Given the description of an element on the screen output the (x, y) to click on. 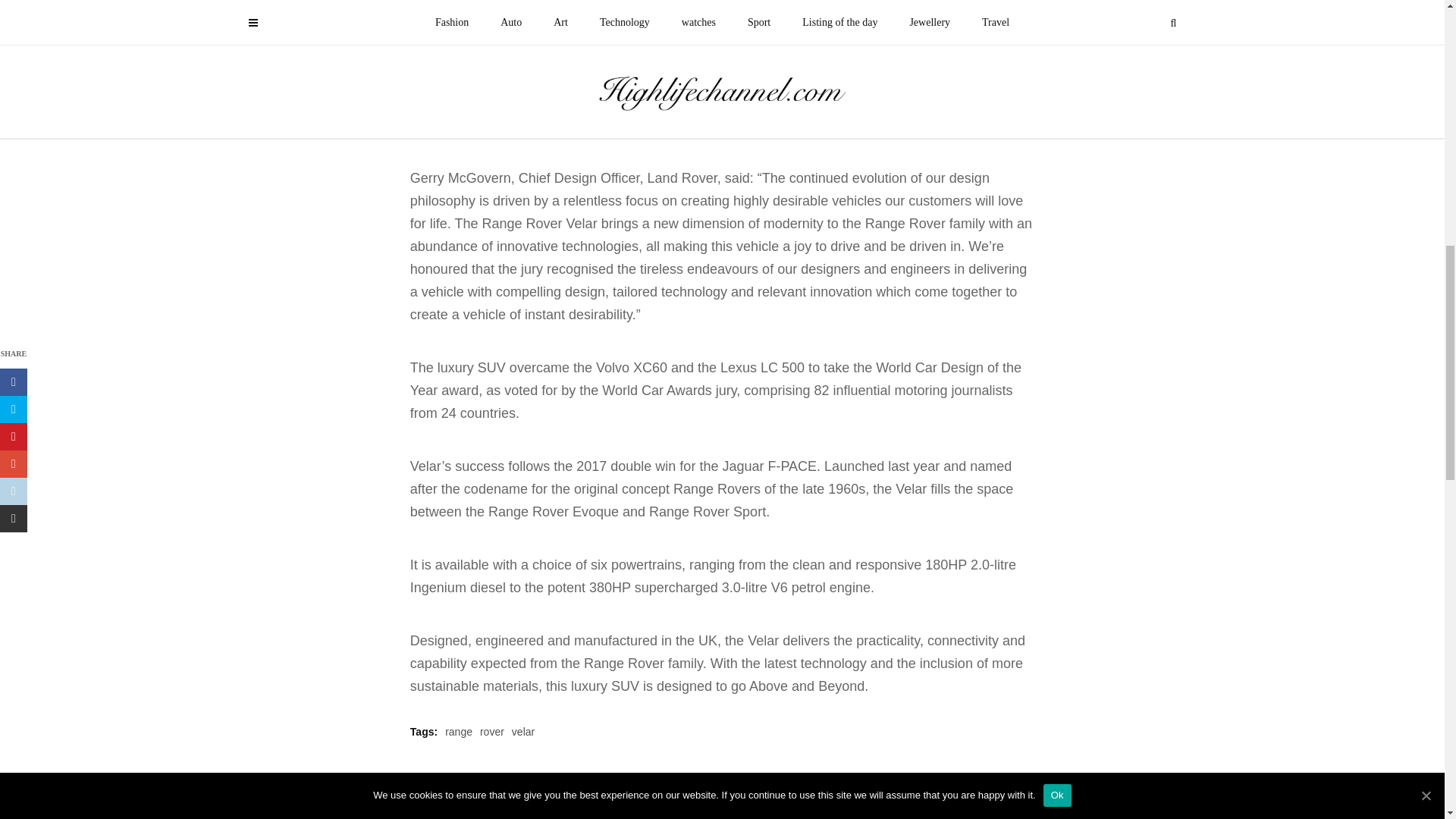
range (458, 731)
velar (523, 731)
Top 3 amazing sweets (984, 813)
rover (491, 731)
